Given the description of an element on the screen output the (x, y) to click on. 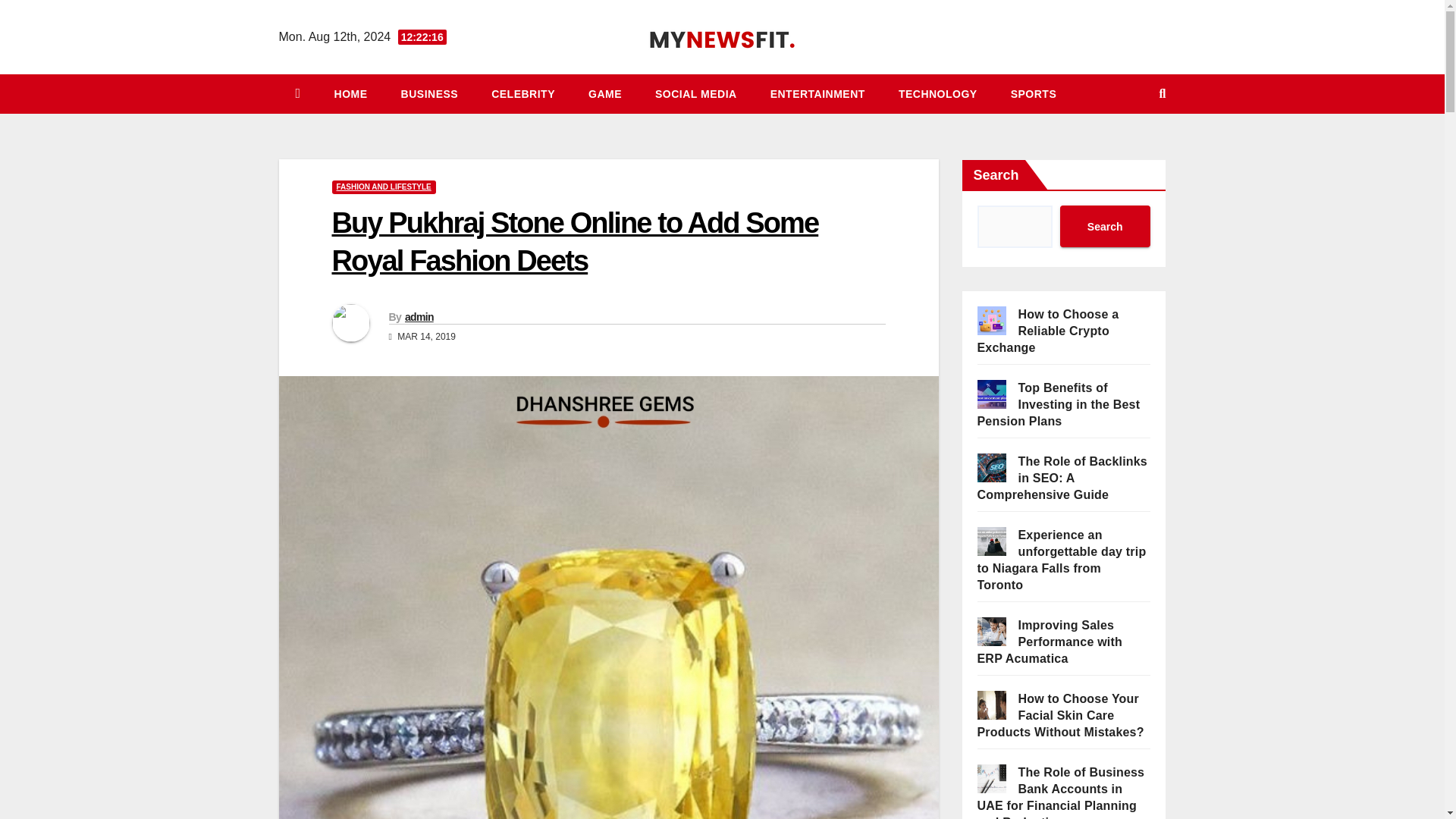
Business (430, 93)
ENTERTAINMENT (818, 93)
SOCIAL MEDIA (696, 93)
Celebrity (523, 93)
Technology (938, 93)
Home (350, 93)
Game (605, 93)
TECHNOLOGY (938, 93)
GAME (605, 93)
